Given the description of an element on the screen output the (x, y) to click on. 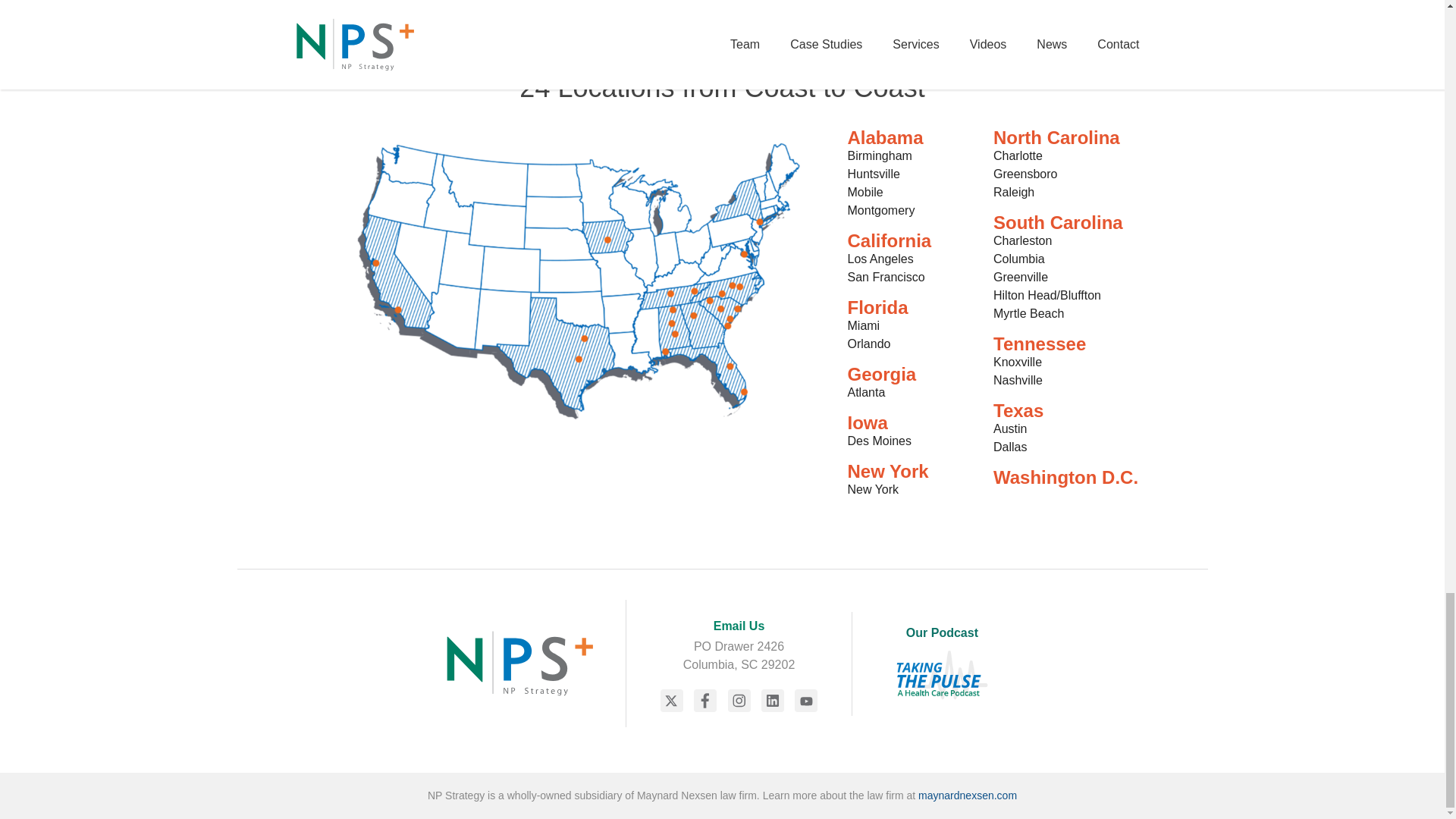
X (671, 700)
maynardnexsen.com (967, 795)
Facebook (705, 700)
Instagram (739, 700)
LinkedIn (772, 700)
YouTube (805, 700)
Email Us (739, 626)
